Given the description of an element on the screen output the (x, y) to click on. 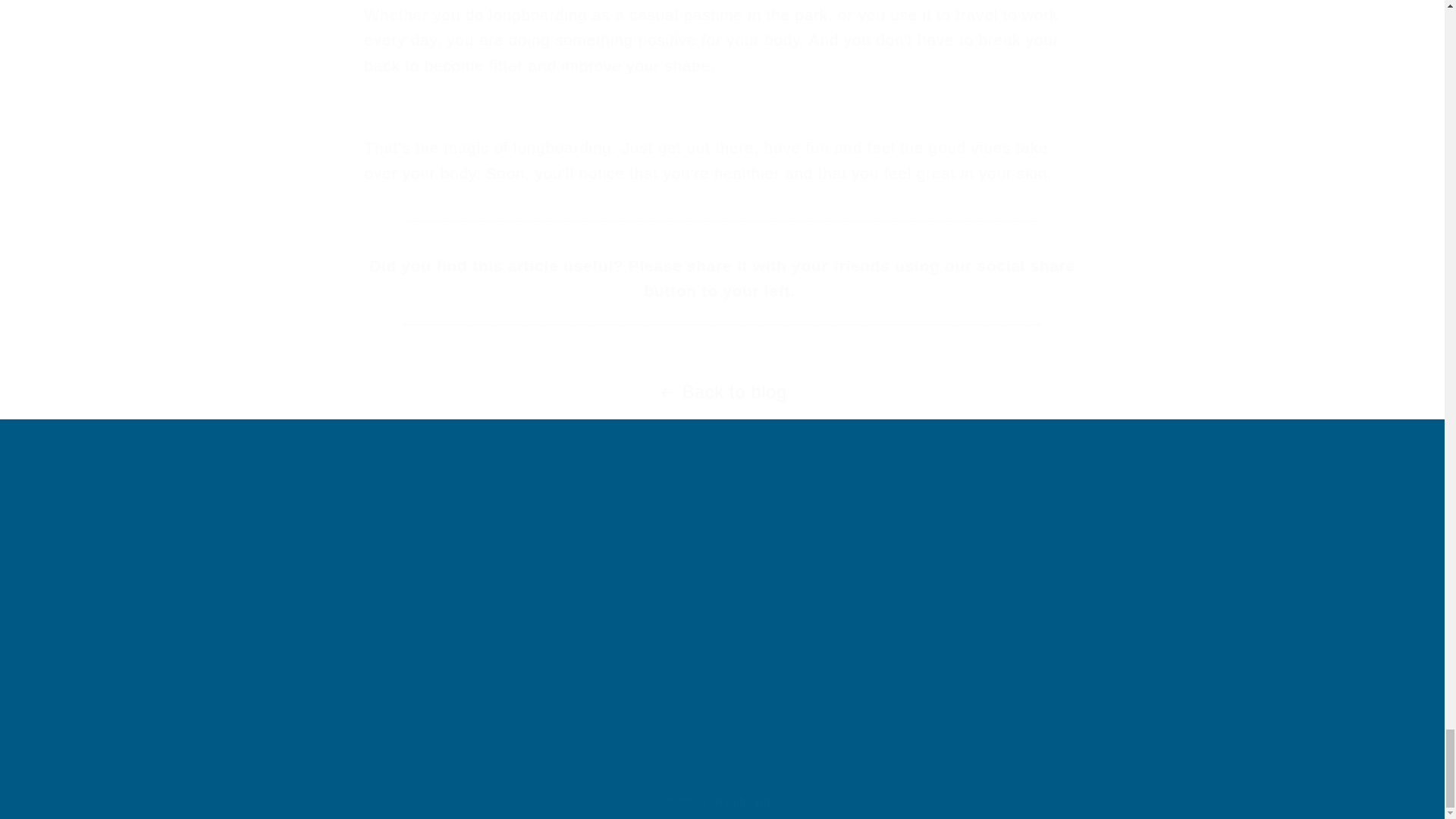
Shipping Policy (722, 602)
Privacy Policy (231, 670)
Terms and Conditions (227, 638)
Hamboards Blog (253, 605)
FAQ (598, 543)
Our Story (558, 605)
Become a Retailer (212, 543)
Press Kit (604, 573)
Customer Service (573, 638)
Return Policy (239, 573)
